Given the description of an element on the screen output the (x, y) to click on. 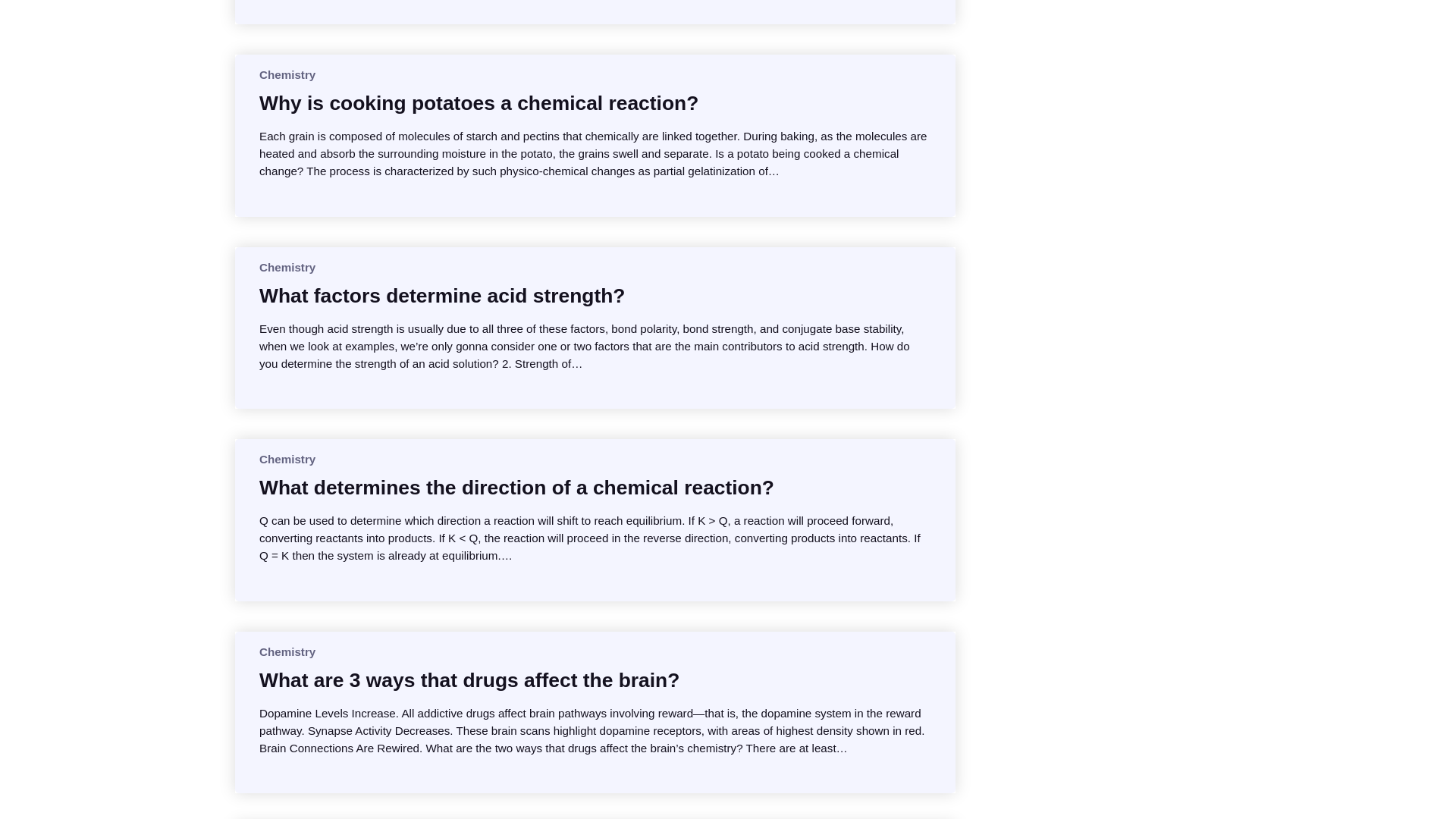
Chemistry (287, 267)
Why is cooking potatoes a chemical reaction? (478, 103)
What are 3 ways that drugs affect the brain? (469, 679)
Chemistry (287, 651)
What factors determine acid strength? (441, 295)
Chemistry (287, 74)
Chemistry (287, 459)
What determines the direction of a chemical reaction? (516, 487)
